Given the description of an element on the screen output the (x, y) to click on. 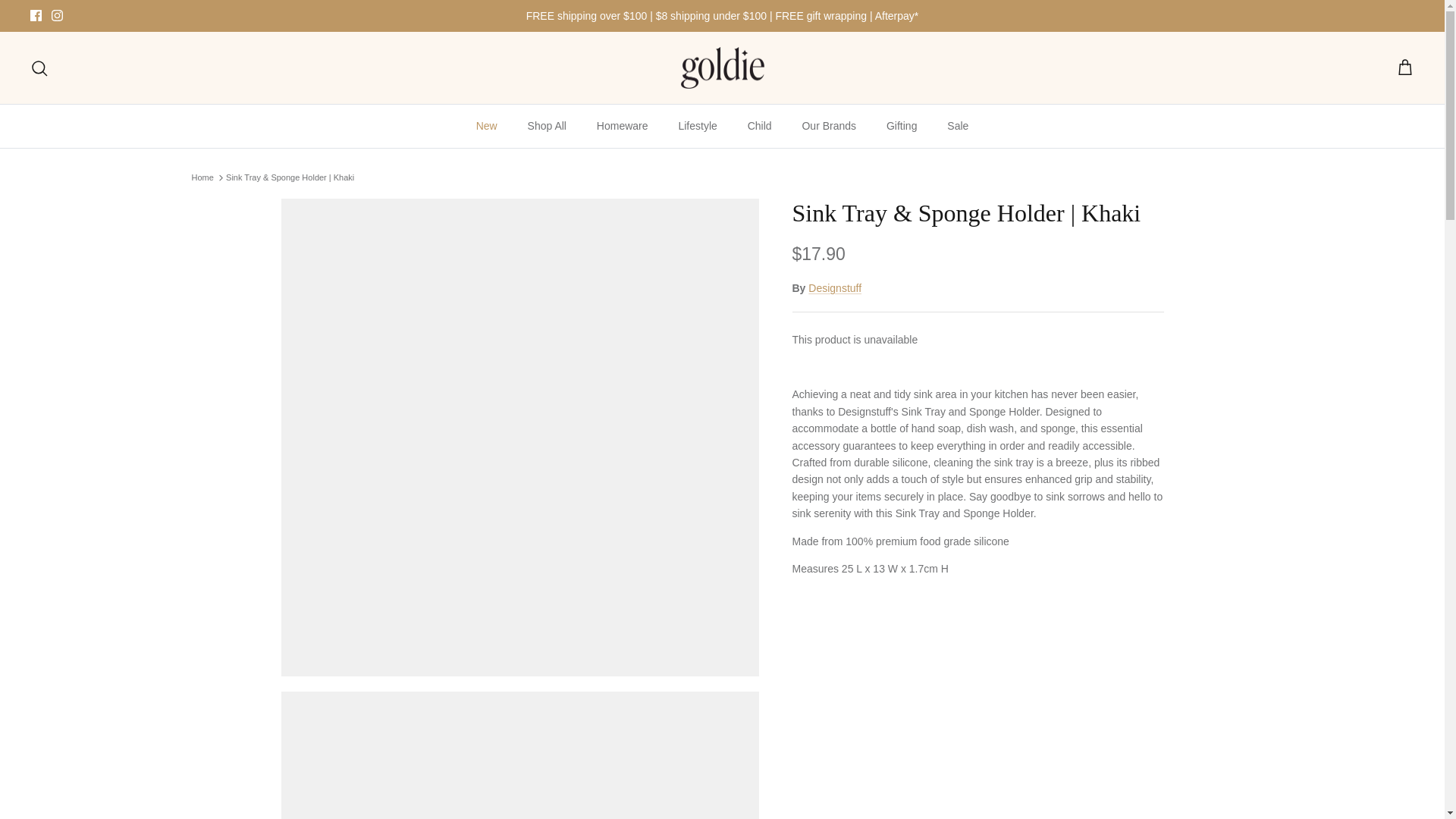
Instagram (56, 15)
Instagram (56, 15)
Cart (1404, 67)
Shop All (546, 126)
Goldie Homestore (722, 67)
Facebook (36, 15)
Facebook (36, 15)
Homeware (622, 126)
New (487, 126)
Search (39, 67)
